Given the description of an element on the screen output the (x, y) to click on. 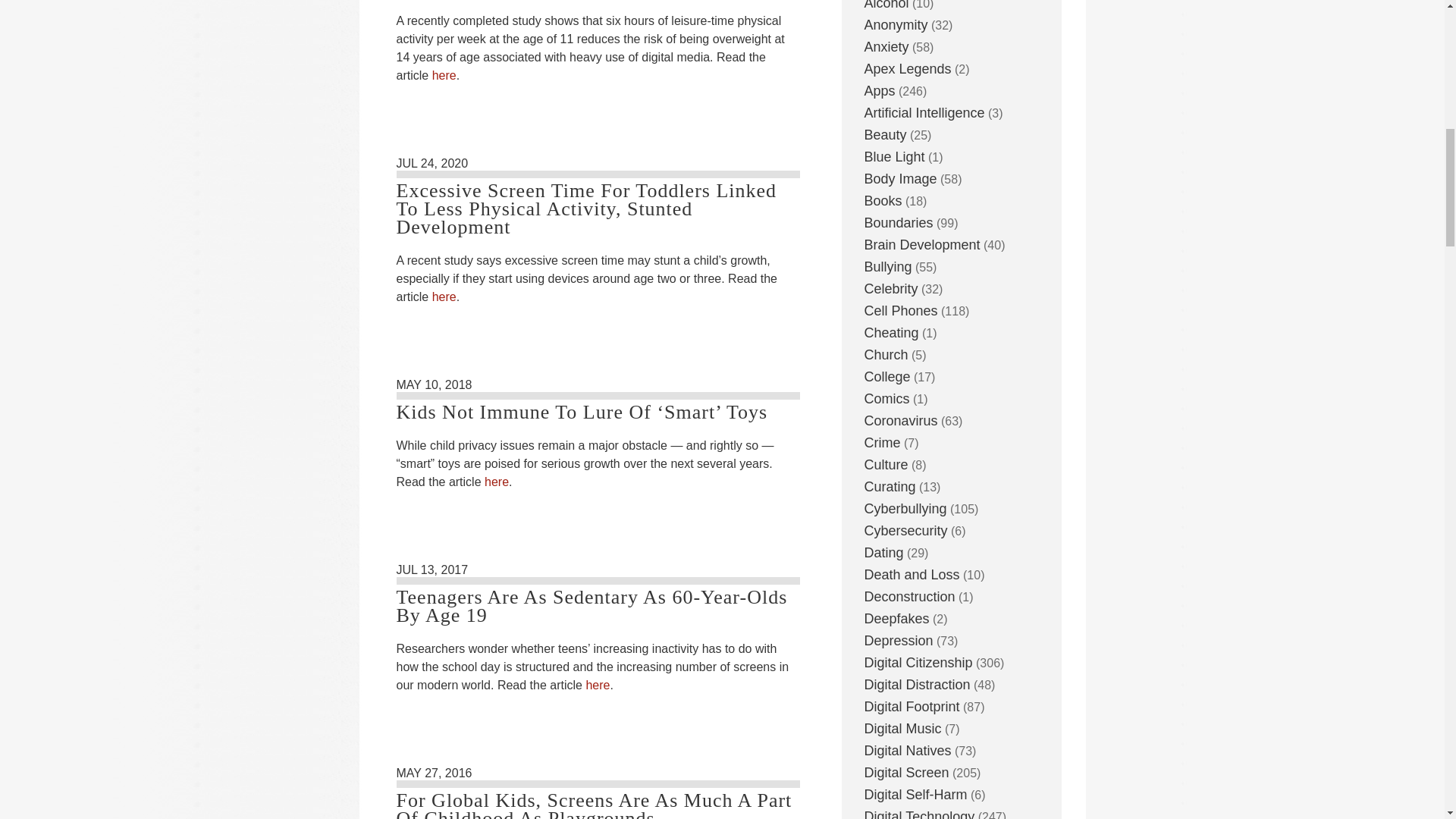
here (597, 684)
here (496, 481)
Anonymity (896, 24)
Boundaries (898, 222)
here (444, 74)
Beauty (885, 134)
Apex Legends (908, 68)
Artificial Intelligence (924, 112)
here (444, 296)
Anxiety (886, 46)
